Given the description of an element on the screen output the (x, y) to click on. 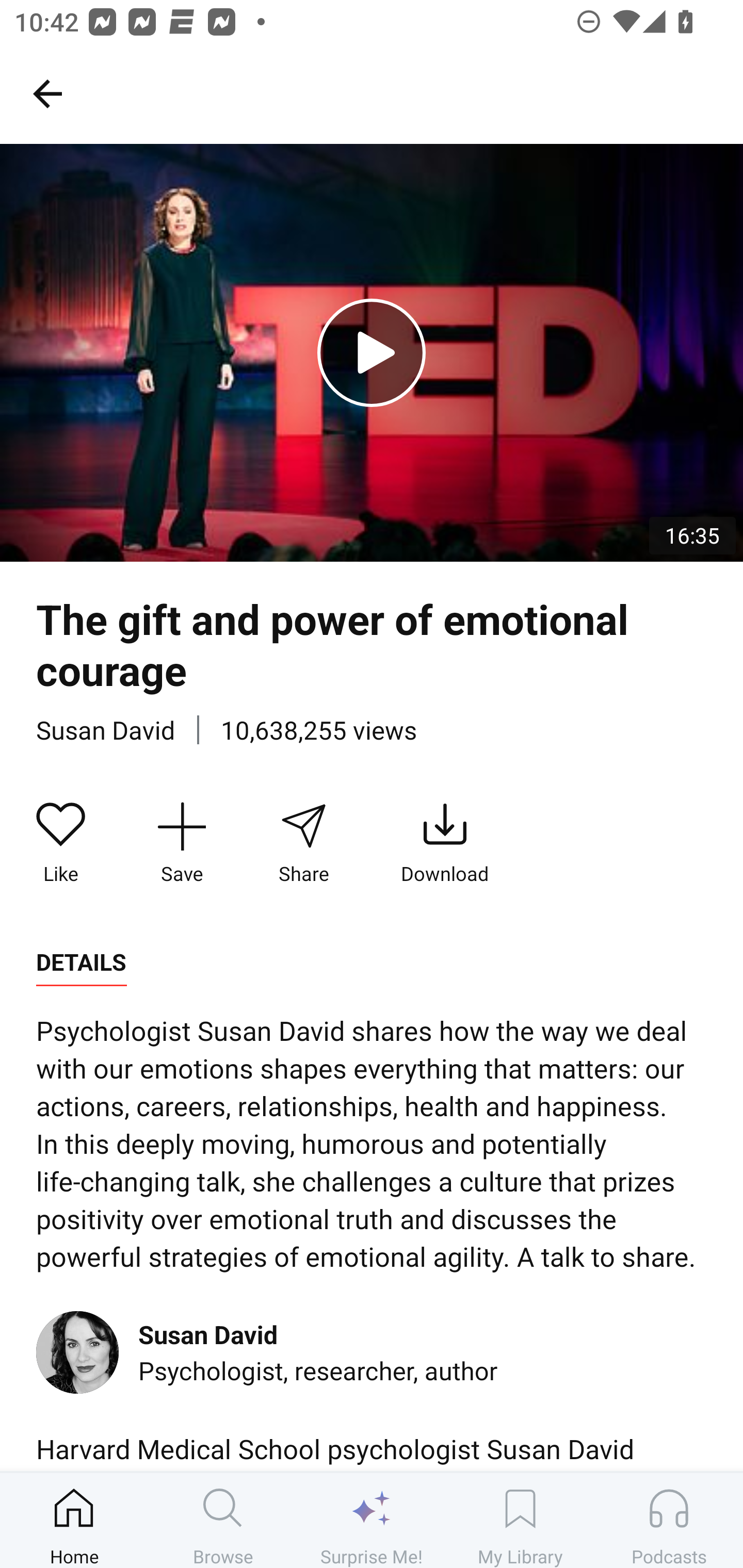
Home, back (47, 92)
Like (60, 843)
Save (181, 843)
Share (302, 843)
Download (444, 843)
DETAILS (80, 962)
Home (74, 1520)
Browse (222, 1520)
Surprise Me! (371, 1520)
My Library (519, 1520)
Podcasts (668, 1520)
